Given the description of an element on the screen output the (x, y) to click on. 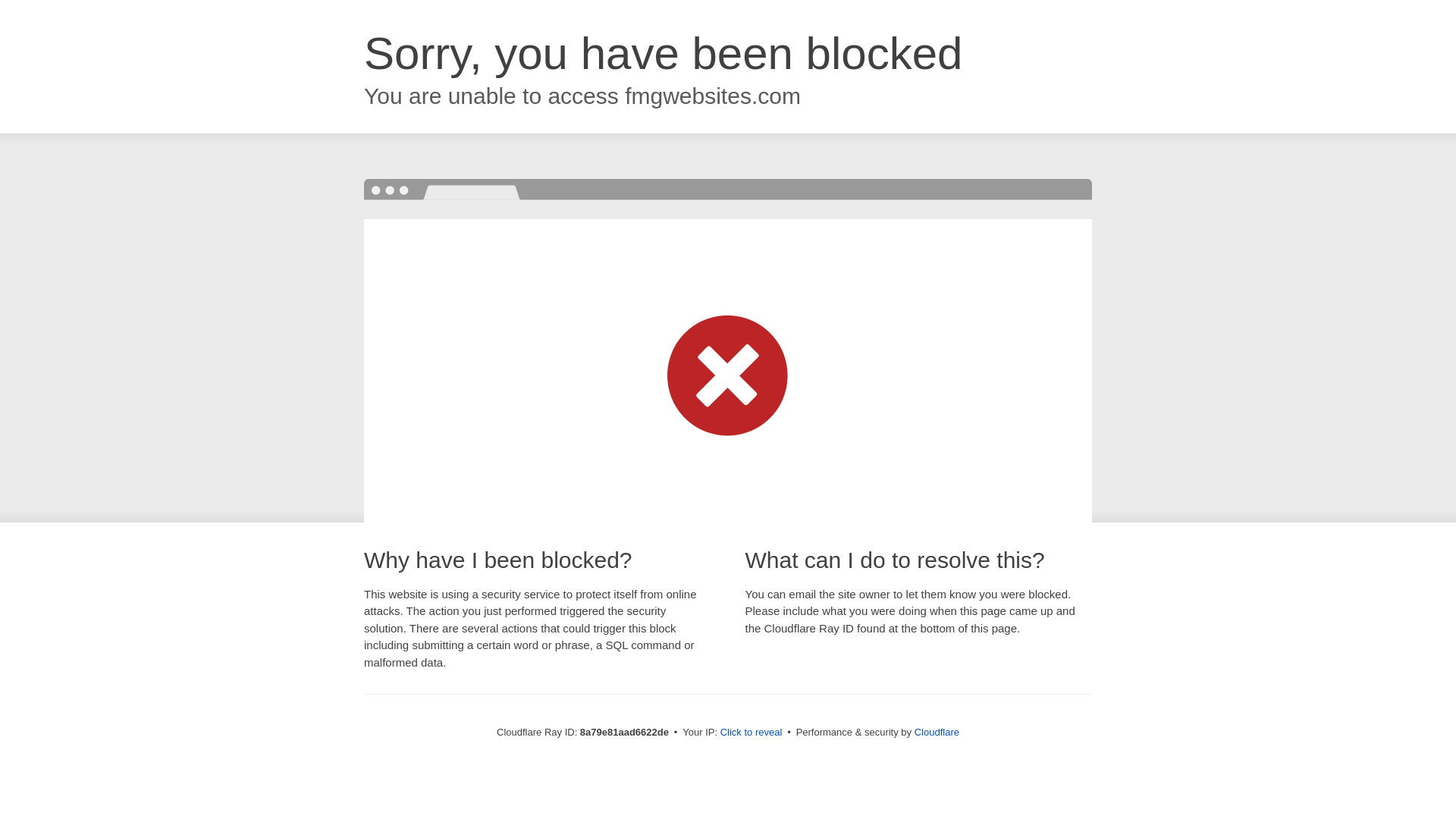
Cloudflare (936, 731)
Click to reveal (751, 732)
